Given the description of an element on the screen output the (x, y) to click on. 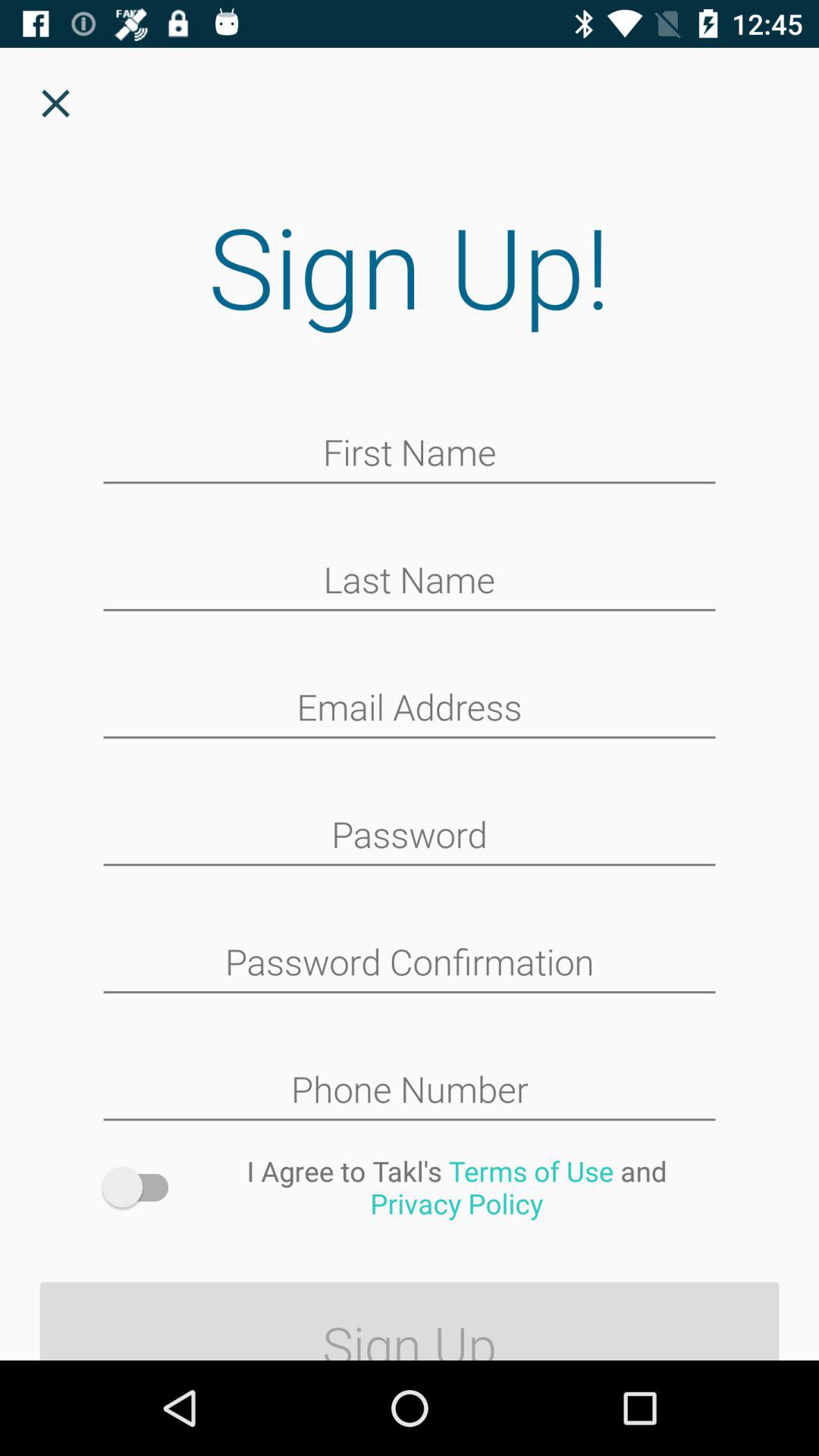
enter your email address (409, 709)
